Given the description of an element on the screen output the (x, y) to click on. 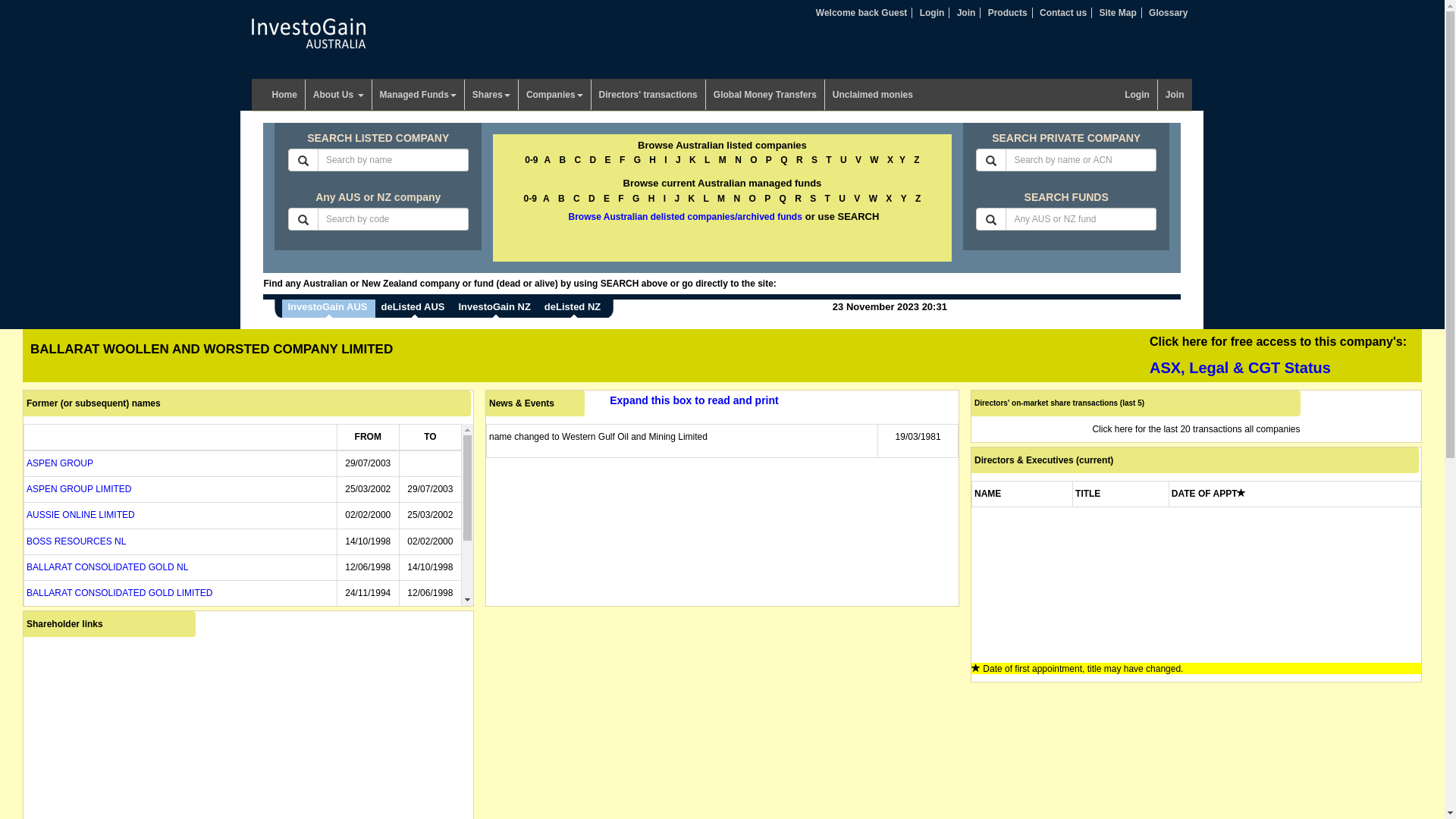
M Element type: text (720, 198)
Advertisement Element type: hover (1328, 208)
C Element type: text (576, 198)
I Element type: text (665, 159)
InvestoGain AUS Element type: text (328, 308)
Contact us Element type: text (1062, 12)
P Element type: text (768, 159)
0-9 Element type: text (530, 198)
F Element type: text (621, 159)
K Element type: text (690, 198)
Login Element type: text (1137, 94)
deListed AUS Element type: text (413, 308)
Click here for the last 20 transactions all companies Element type: text (1195, 428)
Directors' transactions Element type: text (648, 94)
ASPEN GROUP Element type: text (59, 463)
D Element type: text (592, 159)
N Element type: text (736, 198)
V Element type: text (858, 159)
BALLARAT WOOLLEN AND WORSTED COMPANY LIMITED Element type: text (151, 670)
Join Element type: text (966, 12)
Welcome back Guest Element type: text (861, 12)
Login Element type: text (931, 12)
H Element type: text (652, 159)
U Element type: text (843, 159)
C Element type: text (577, 159)
Products Element type: text (1007, 12)
T Element type: text (827, 198)
Glossary Element type: text (1167, 12)
AUSSIE ONLINE LIMITED Element type: text (80, 514)
B Element type: text (561, 198)
I Element type: text (664, 198)
InvestoGain NZ Element type: text (496, 308)
Q Element type: text (783, 159)
K Element type: text (692, 159)
X Element type: text (890, 159)
O Element type: text (752, 159)
G Element type: text (635, 198)
N Element type: text (737, 159)
BOSS RESOURCES NL Element type: text (75, 541)
ASPEN GROUP LIMITED Element type: text (78, 488)
W Element type: text (873, 198)
G Element type: text (636, 159)
WESTERN GULF MINING LIMITED Element type: text (99, 618)
S Element type: text (814, 159)
D Element type: text (591, 198)
Q Element type: text (782, 198)
Y Element type: text (903, 198)
About Us Element type: text (338, 94)
H Element type: text (651, 198)
U Element type: text (841, 198)
Managed Funds Element type: text (417, 94)
0-9 Element type: text (530, 159)
  Element type: text (610, 308)
O Element type: text (751, 198)
P Element type: text (767, 198)
X Element type: text (888, 198)
BALLARAT CONSOLIDATED GOLD NL Element type: text (107, 566)
Z Element type: text (917, 198)
BALLARAT CONSOLIDATED GOLD LIMITED Element type: text (119, 592)
F Element type: text (620, 198)
Global Money Transfers Element type: text (765, 94)
Advertisement Element type: hover (124, 208)
R Element type: text (799, 159)
Y Element type: text (902, 159)
L Element type: text (706, 159)
V Element type: text (856, 198)
A Element type: text (545, 198)
E Element type: text (606, 198)
A Element type: text (547, 159)
WESTERN GULF OIL AND MINING LIMITED Element type: text (118, 644)
T Element type: text (828, 159)
Z Element type: text (916, 159)
B Element type: text (562, 159)
S Element type: text (812, 198)
E Element type: text (608, 159)
Join Element type: text (1174, 94)
Browse Australian delisted companies/archived funds Element type: text (685, 216)
W Element type: text (873, 159)
J Element type: text (676, 198)
deListed NZ Element type: text (573, 308)
Companies Element type: text (554, 94)
R Element type: text (797, 198)
M Element type: text (722, 159)
Site Map Element type: text (1116, 12)
Home Element type: text (283, 94)
Shares Element type: text (491, 94)
L Element type: text (705, 198)
J Element type: text (677, 159)
Unclaimed monies Element type: text (872, 94)
